Given the description of an element on the screen output the (x, y) to click on. 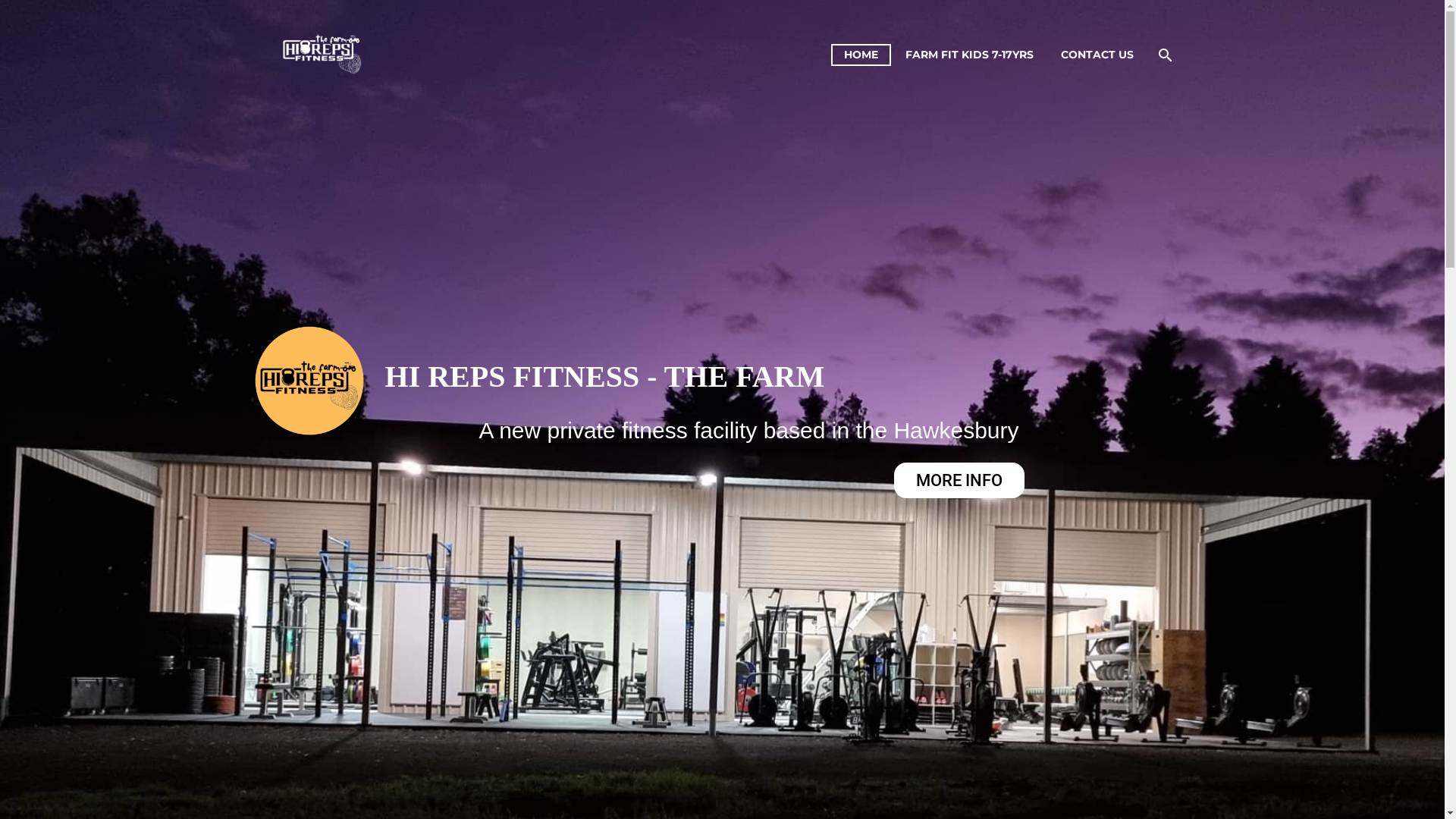
HOME Element type: text (861, 54)
CONTACT US Element type: text (1097, 54)
Skip to content Element type: text (0, 0)
FARM FIT KIDS 7-17YRS Element type: text (968, 54)
